Given the description of an element on the screen output the (x, y) to click on. 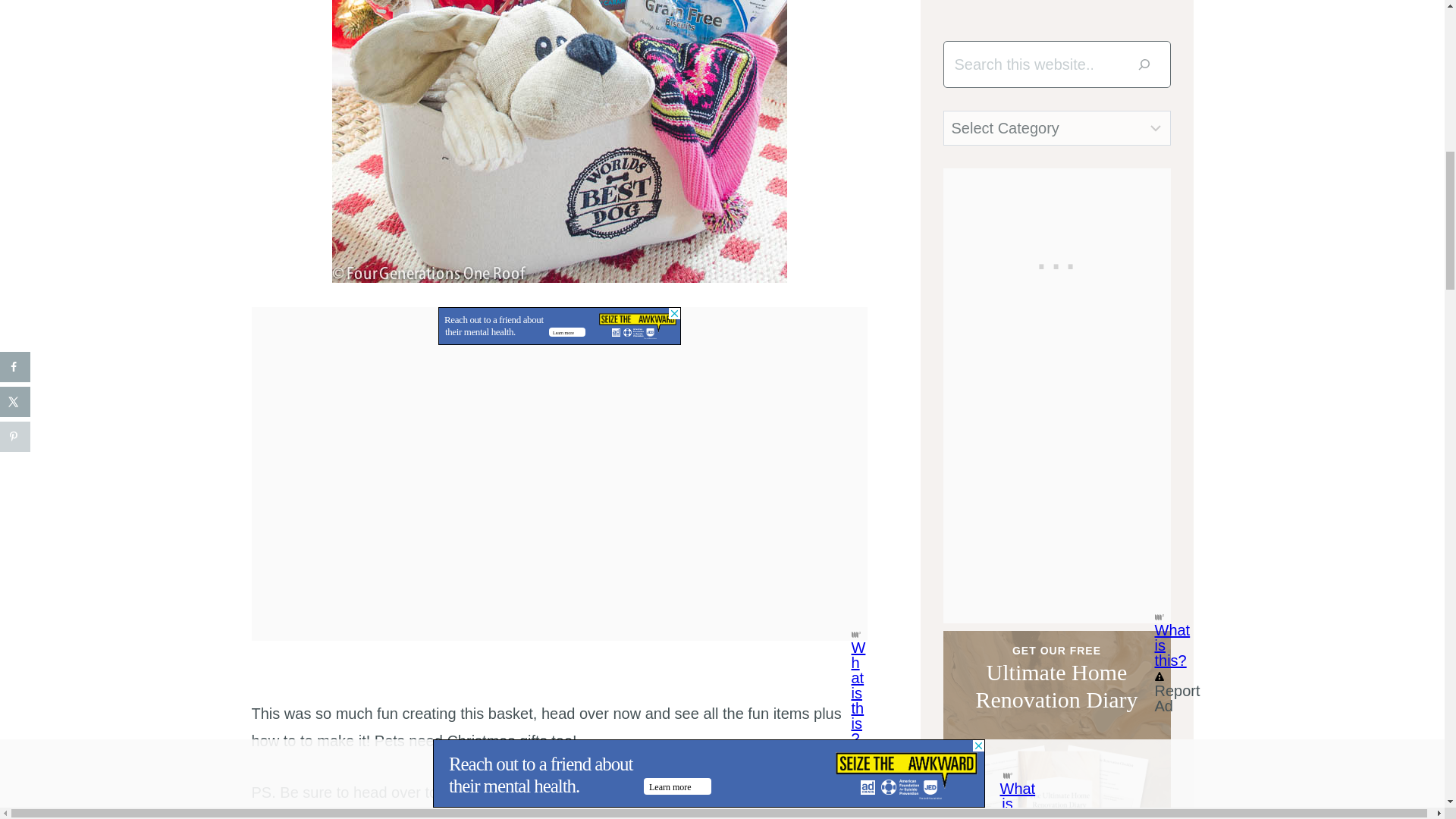
3rd party ad content (1056, 262)
3rd party ad content (559, 325)
